Given the description of an element on the screen output the (x, y) to click on. 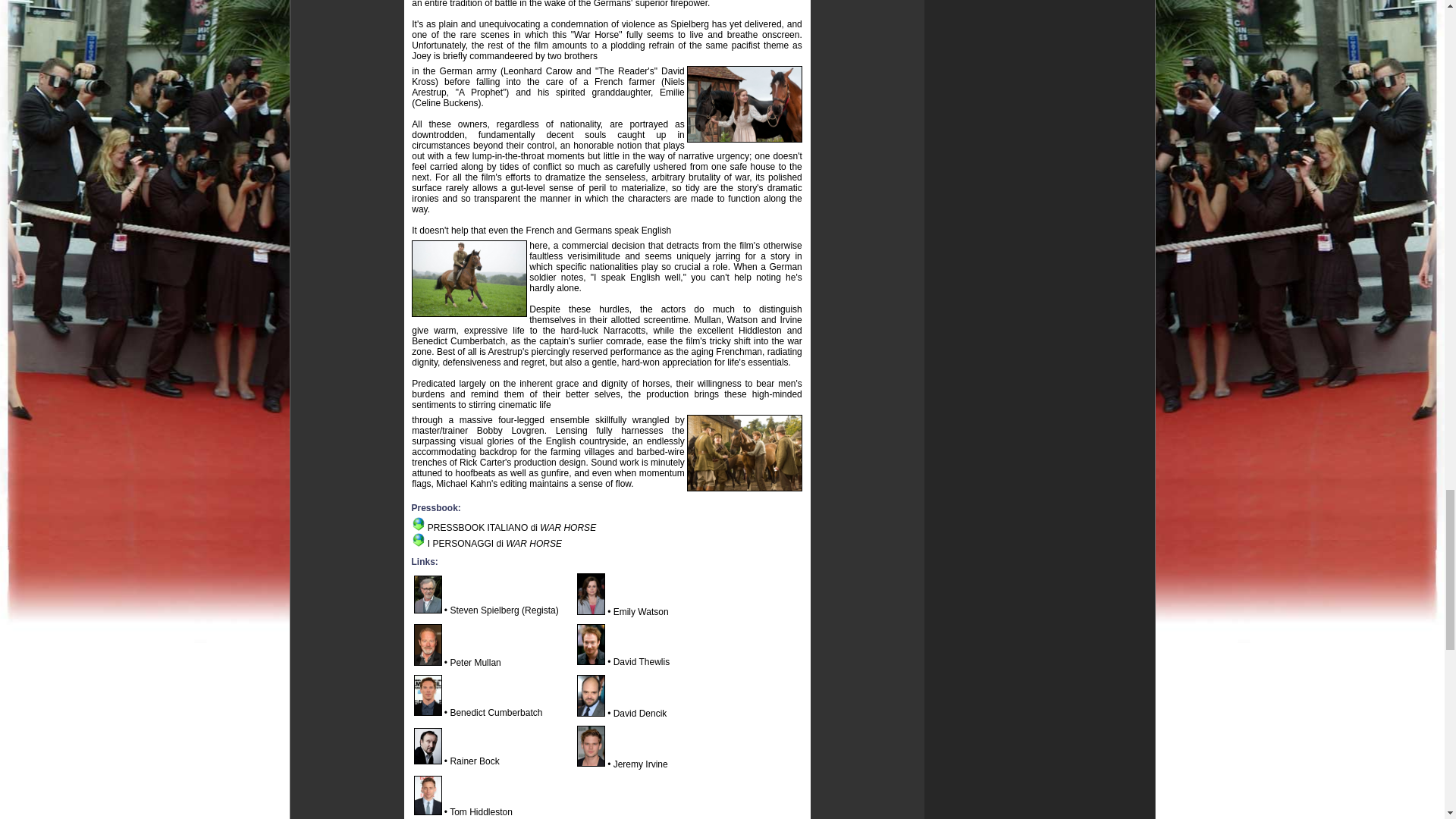
Visualizza la scheda di Steven Spielberg (427, 610)
Visualizza la scheda di Jeremy Irvine (590, 763)
Visualizza la scheda di Peter Mullan (427, 662)
Visualizza la scheda di David Dencik (590, 713)
Visualizza la scheda di Emily Watson (590, 611)
Visualizza la scheda di Benedict Cumberbatch (427, 712)
Visualizza la scheda di Tom Hiddleston (427, 811)
Visualizza la scheda di David Thewlis (590, 661)
Visualizza la scheda di Rainer Bock (427, 760)
